Given the description of an element on the screen output the (x, y) to click on. 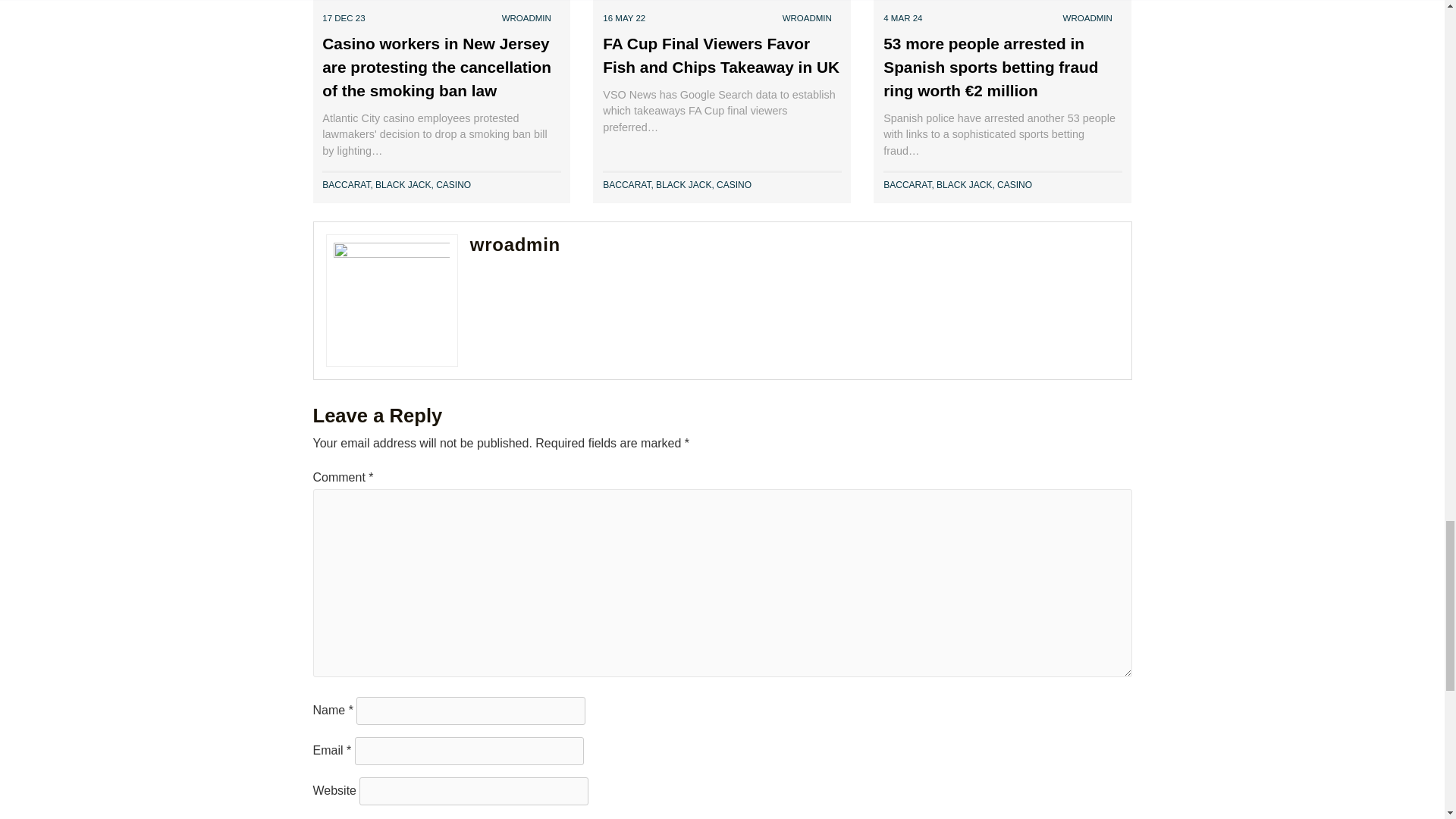
BLACK JACK (402, 184)
WROADMIN (1087, 17)
4 MAR 24 (902, 18)
BLACK JACK (683, 184)
BACCARAT (345, 184)
FA Cup Final Viewers Favor Fish and Chips Takeaway in UK (721, 55)
BACCARAT (626, 184)
17 DEC 23 (343, 18)
CASINO (733, 184)
16 MAY 22 (623, 18)
WROADMIN (807, 17)
CASINO (452, 184)
WROADMIN (526, 17)
